Given the description of an element on the screen output the (x, y) to click on. 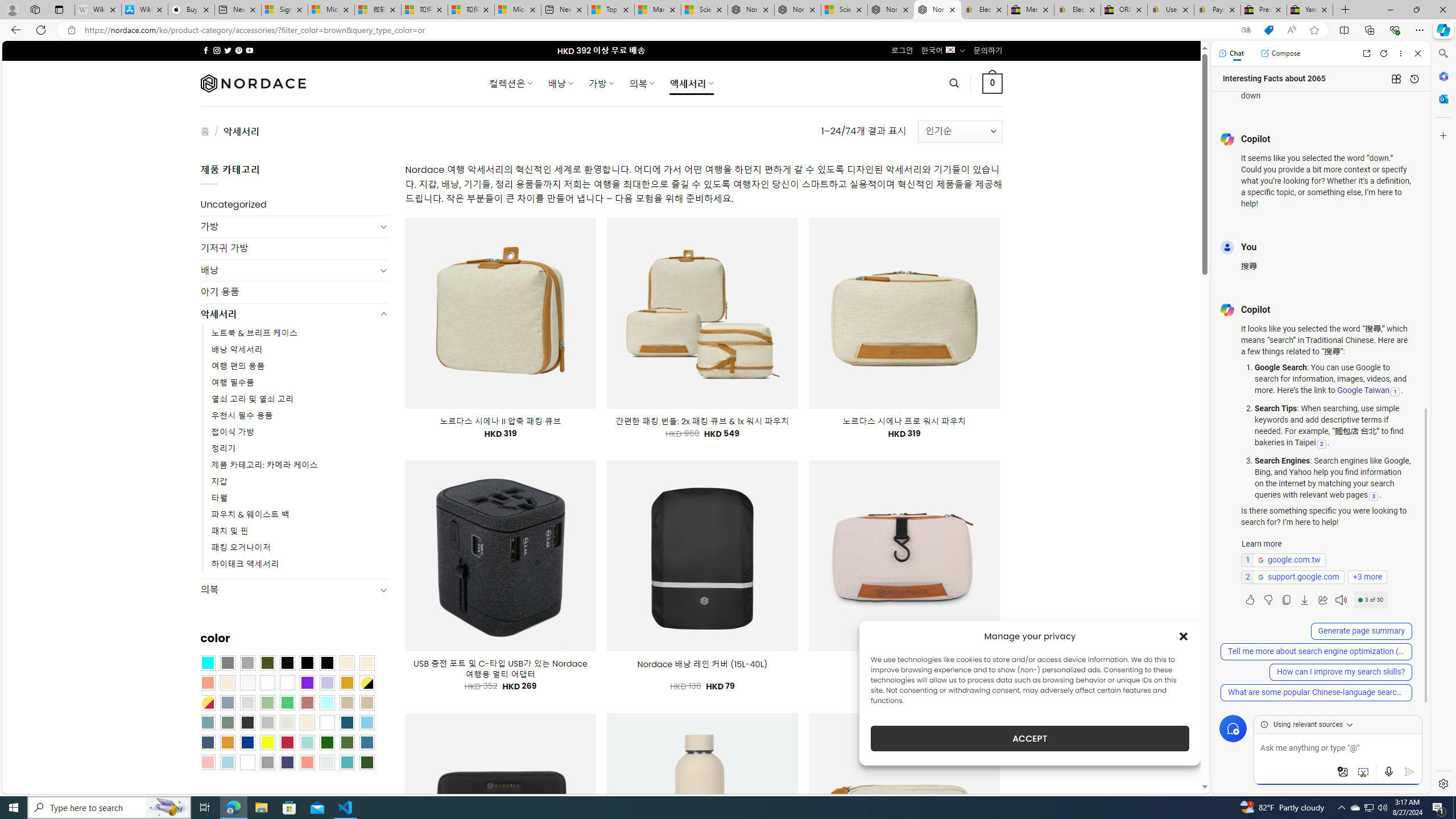
Follow on Twitter (227, 50)
